Given the description of an element on the screen output the (x, y) to click on. 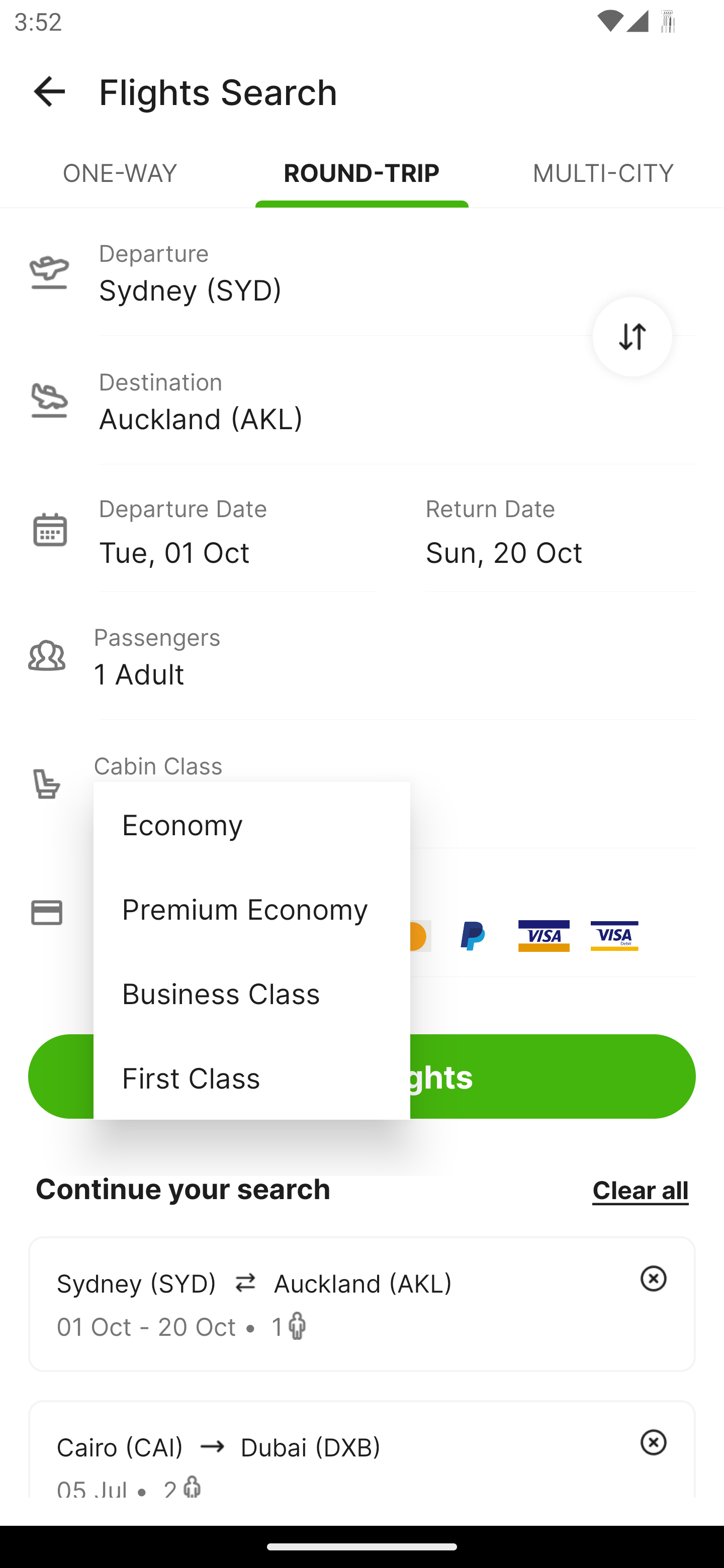
Economy (251, 824)
Premium Economy (251, 908)
Business Class (251, 992)
First Class (251, 1076)
